Given the description of an element on the screen output the (x, y) to click on. 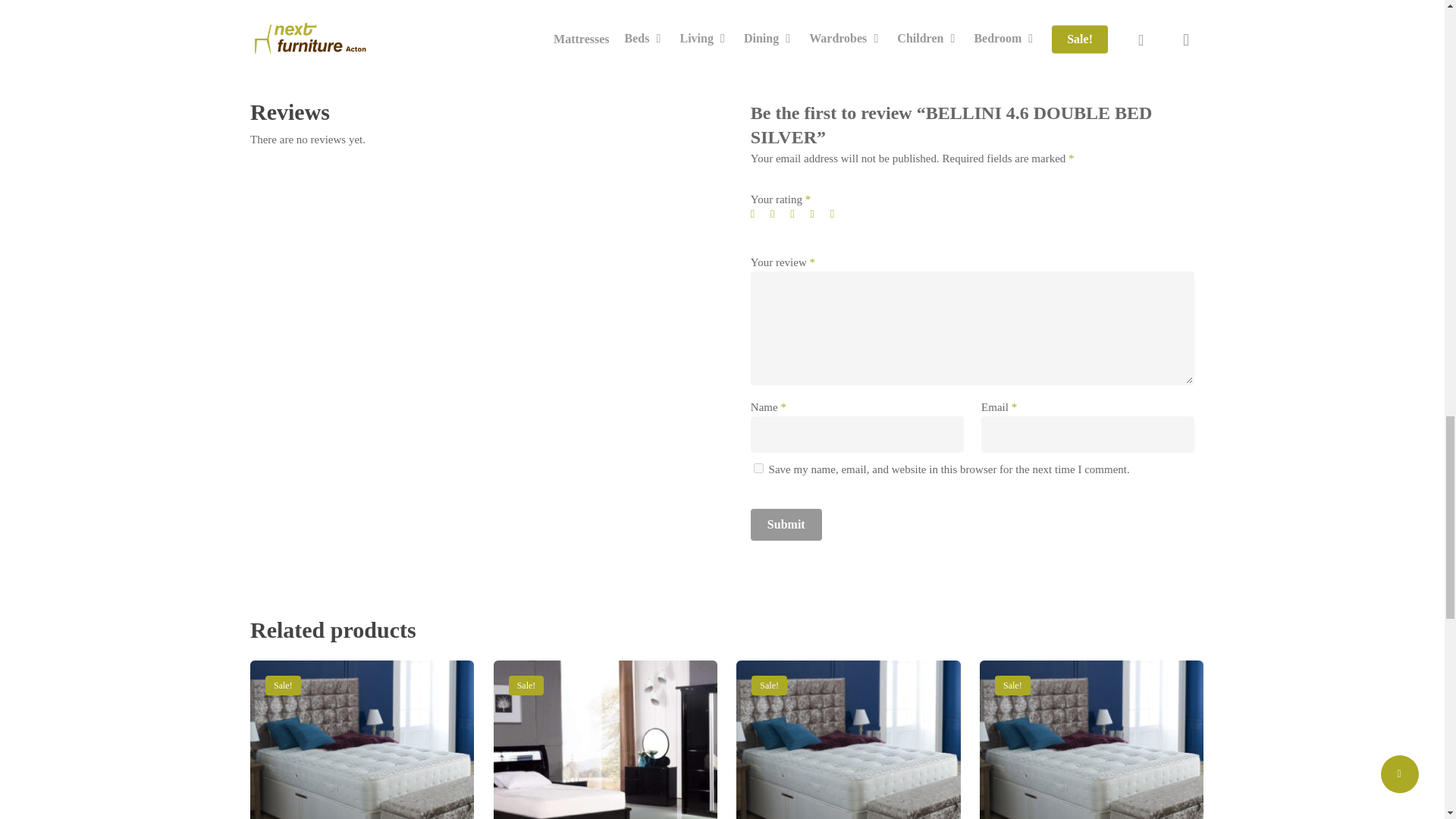
yes (758, 468)
Submit (786, 524)
